Given the description of an element on the screen output the (x, y) to click on. 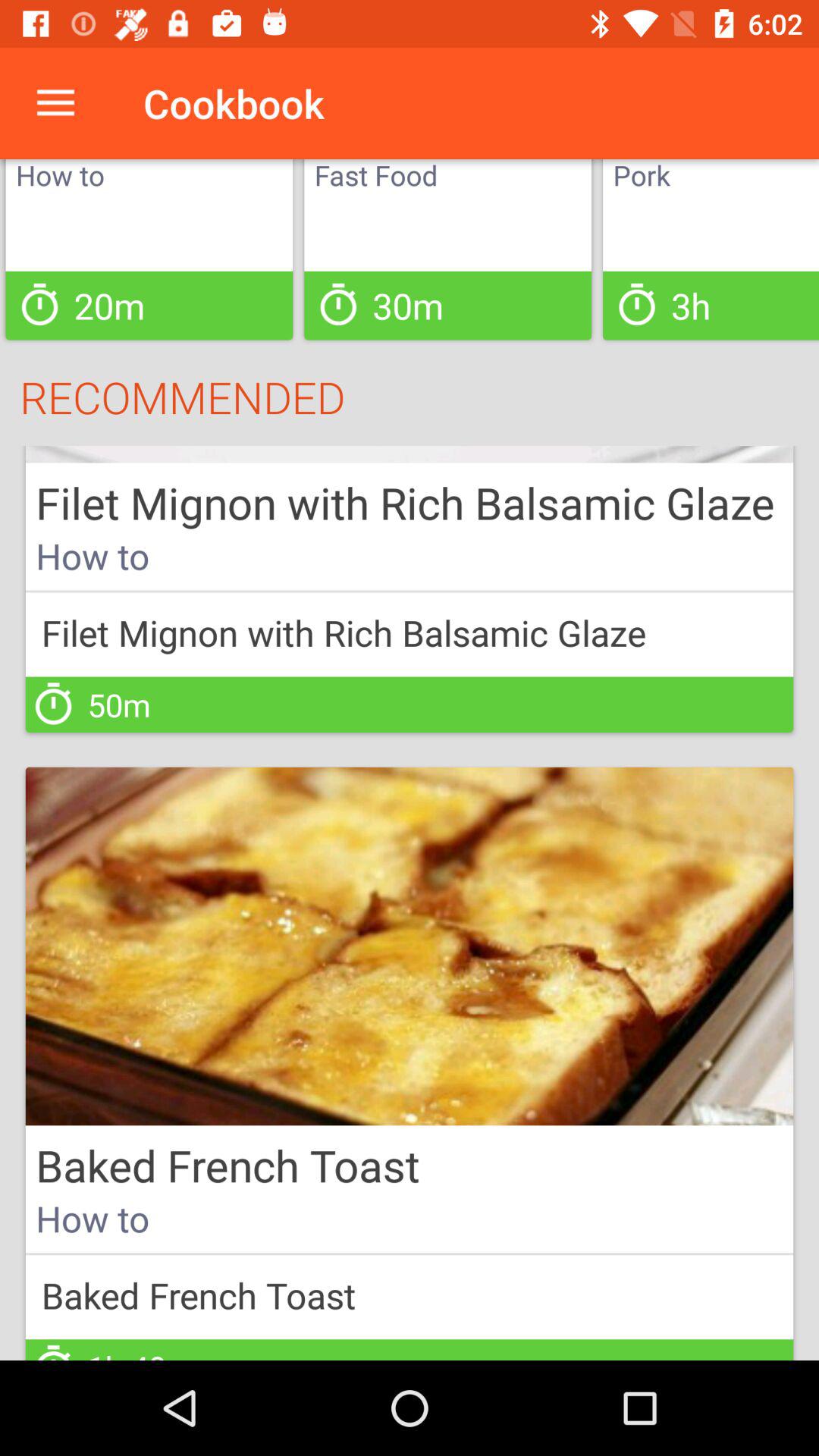
tap icon to the left of cookbook item (55, 103)
